Given the description of an element on the screen output the (x, y) to click on. 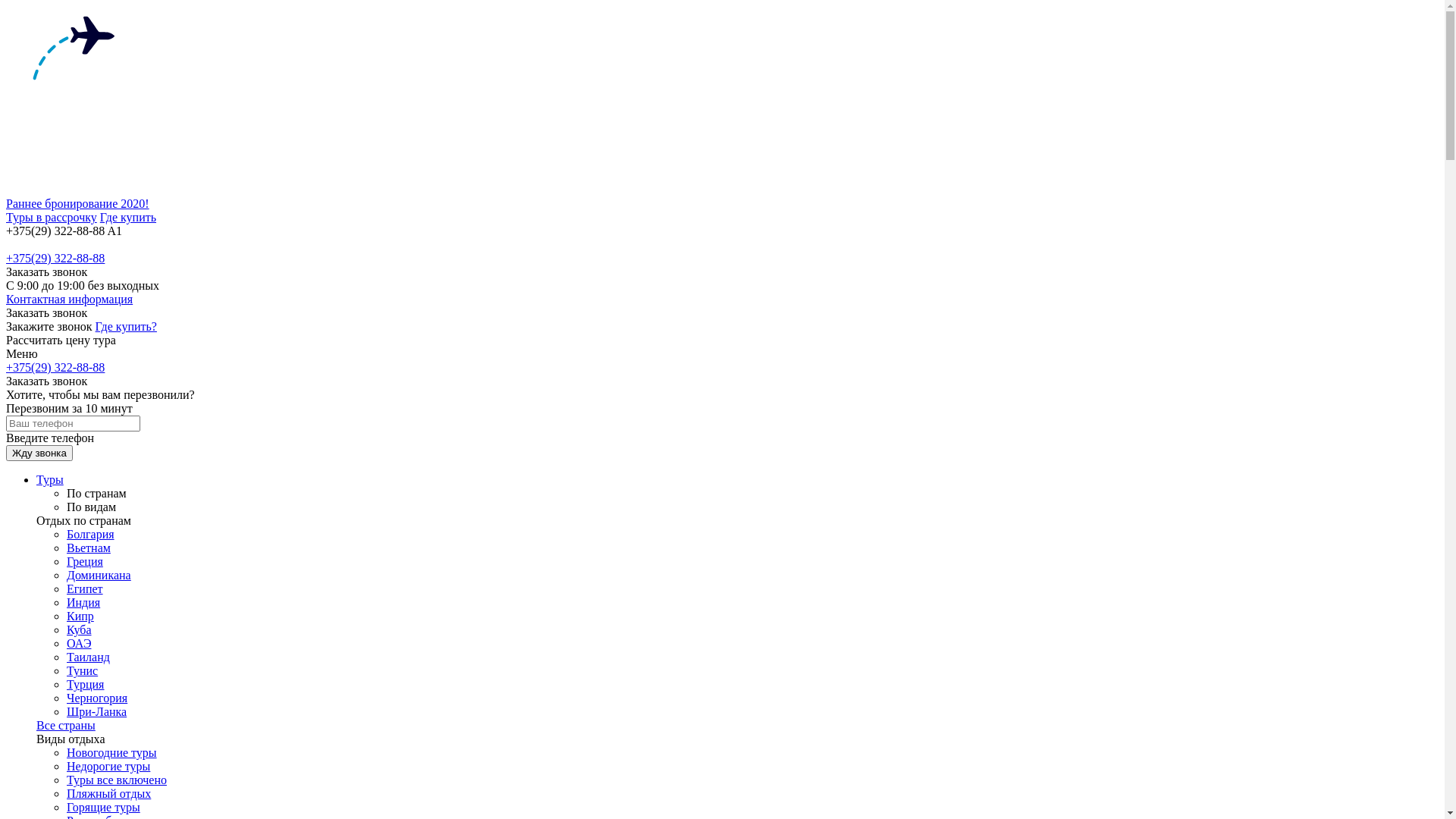
+375(29) 322-88-88 Element type: text (55, 366)
+375(29) 322-88-88 Element type: text (55, 257)
